Given the description of an element on the screen output the (x, y) to click on. 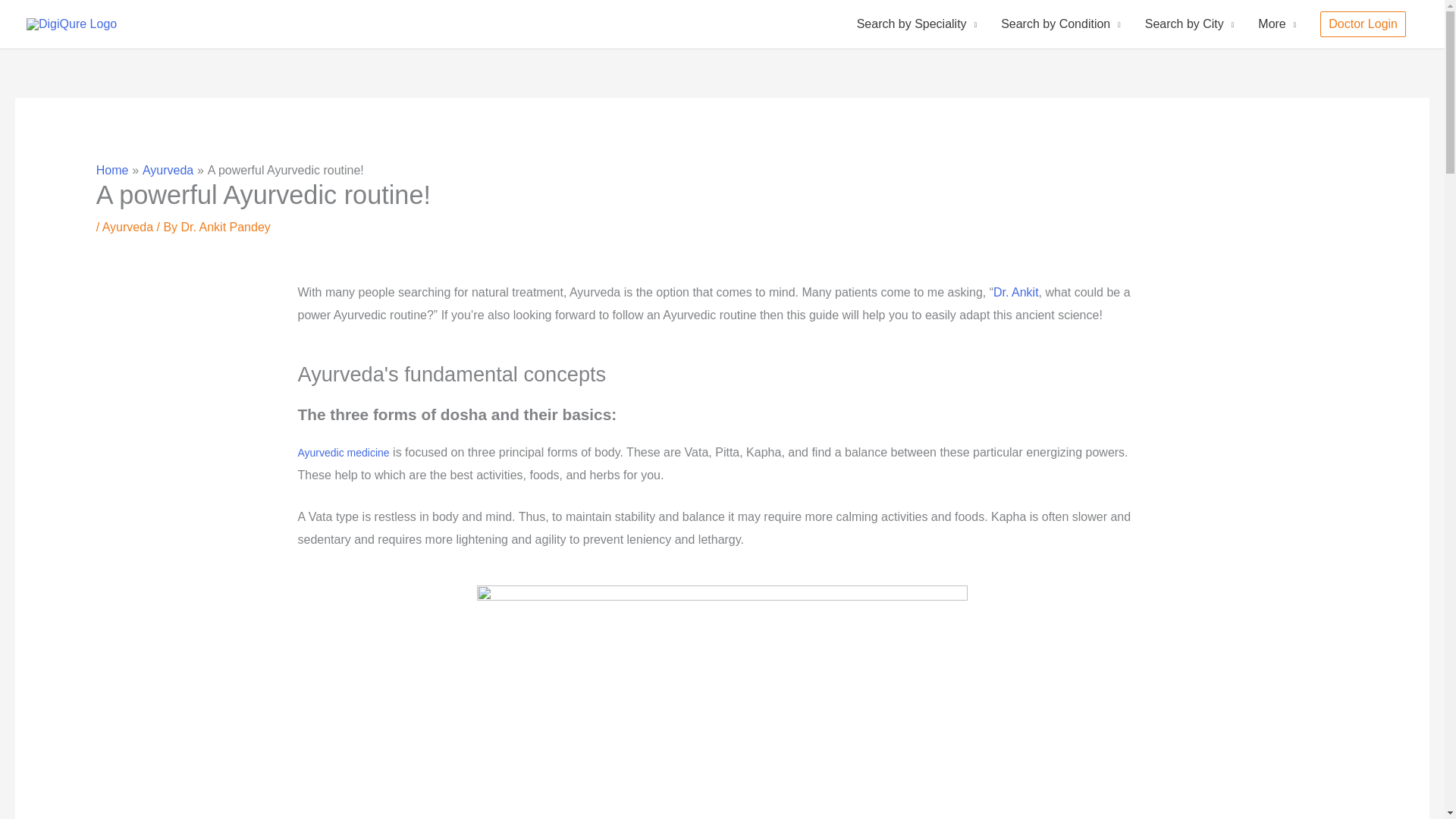
Search by Speciality (916, 24)
Search by Condition (1060, 24)
More (1276, 24)
View all posts by Dr. Ankit Pandey (224, 226)
Search by City (1189, 24)
